Given the description of an element on the screen output the (x, y) to click on. 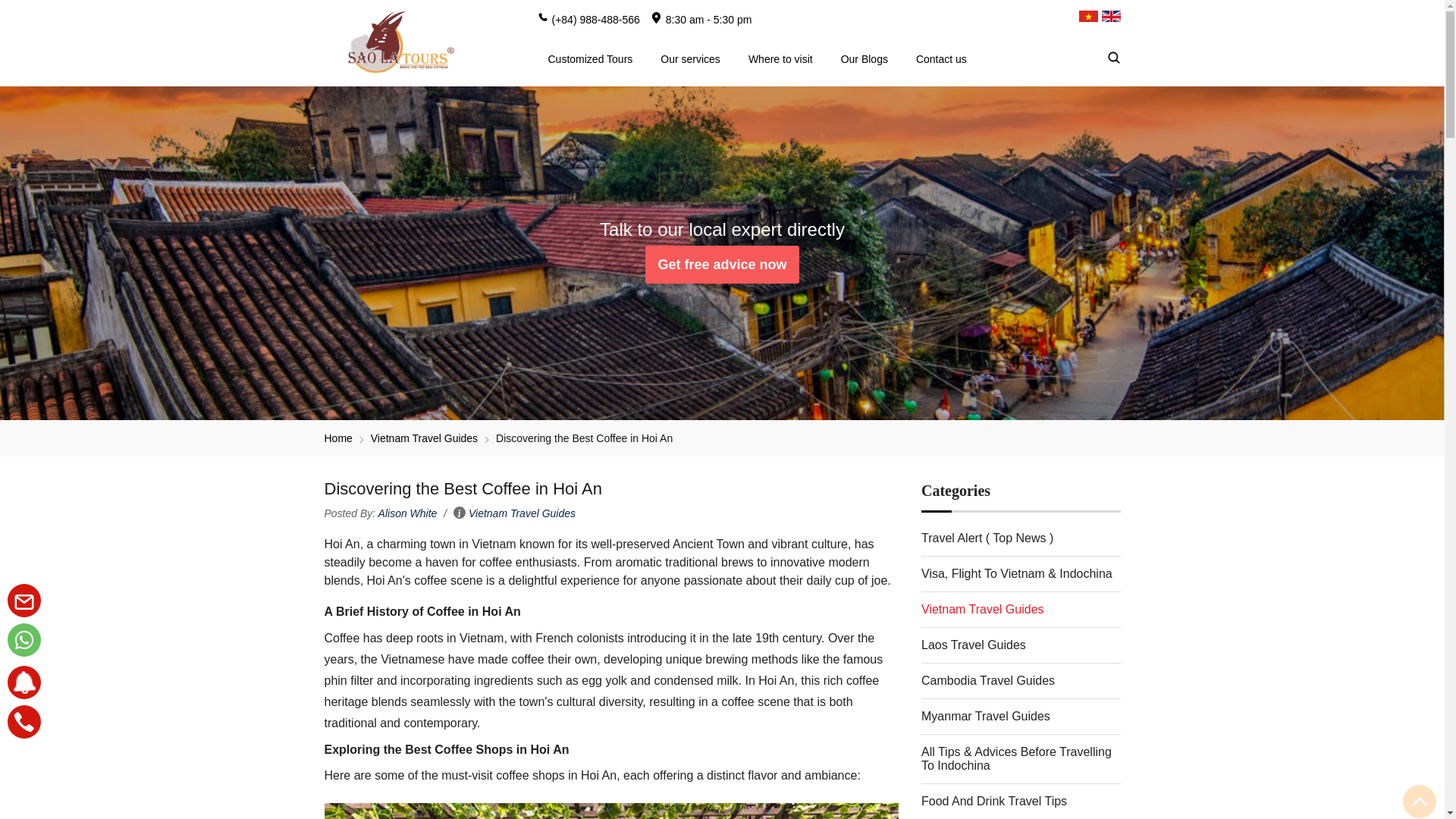
Contact us (721, 264)
Saolatours (396, 43)
Saolatours (338, 438)
Vietnam Travel Guides (521, 512)
search (1136, 57)
Vietnam Travel Guides (424, 438)
Our services (690, 57)
Vietnam Travel Guides (424, 438)
Get free advice now (721, 264)
Our Blogs (864, 57)
